Given the description of an element on the screen output the (x, y) to click on. 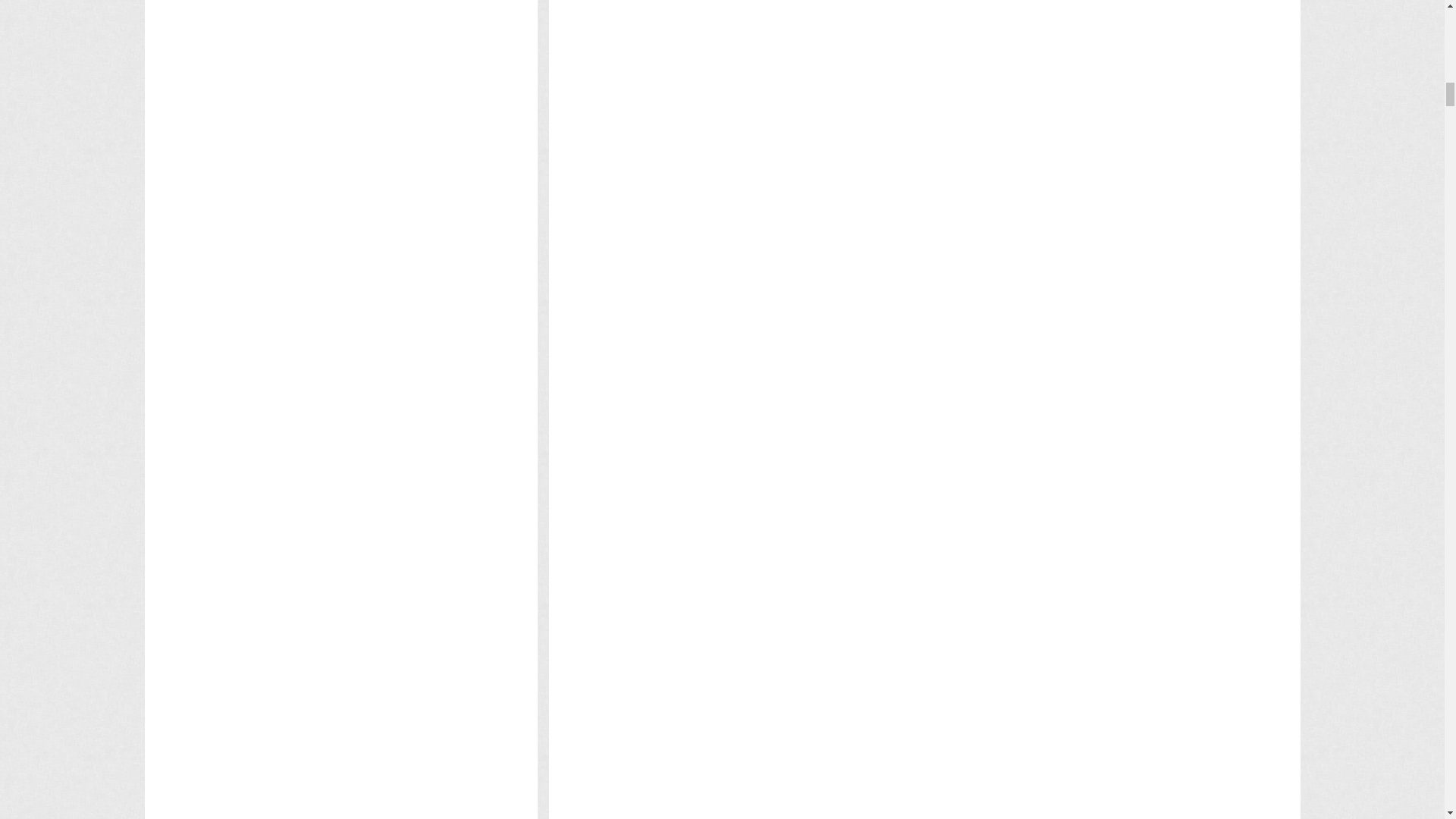
Advertisement (848, 330)
Advertisement (848, 498)
Advertisement (848, 33)
Advertisement (848, 255)
Advertisement (848, 182)
Advertisement (848, 107)
Advertisement (848, 404)
